Given the description of an element on the screen output the (x, y) to click on. 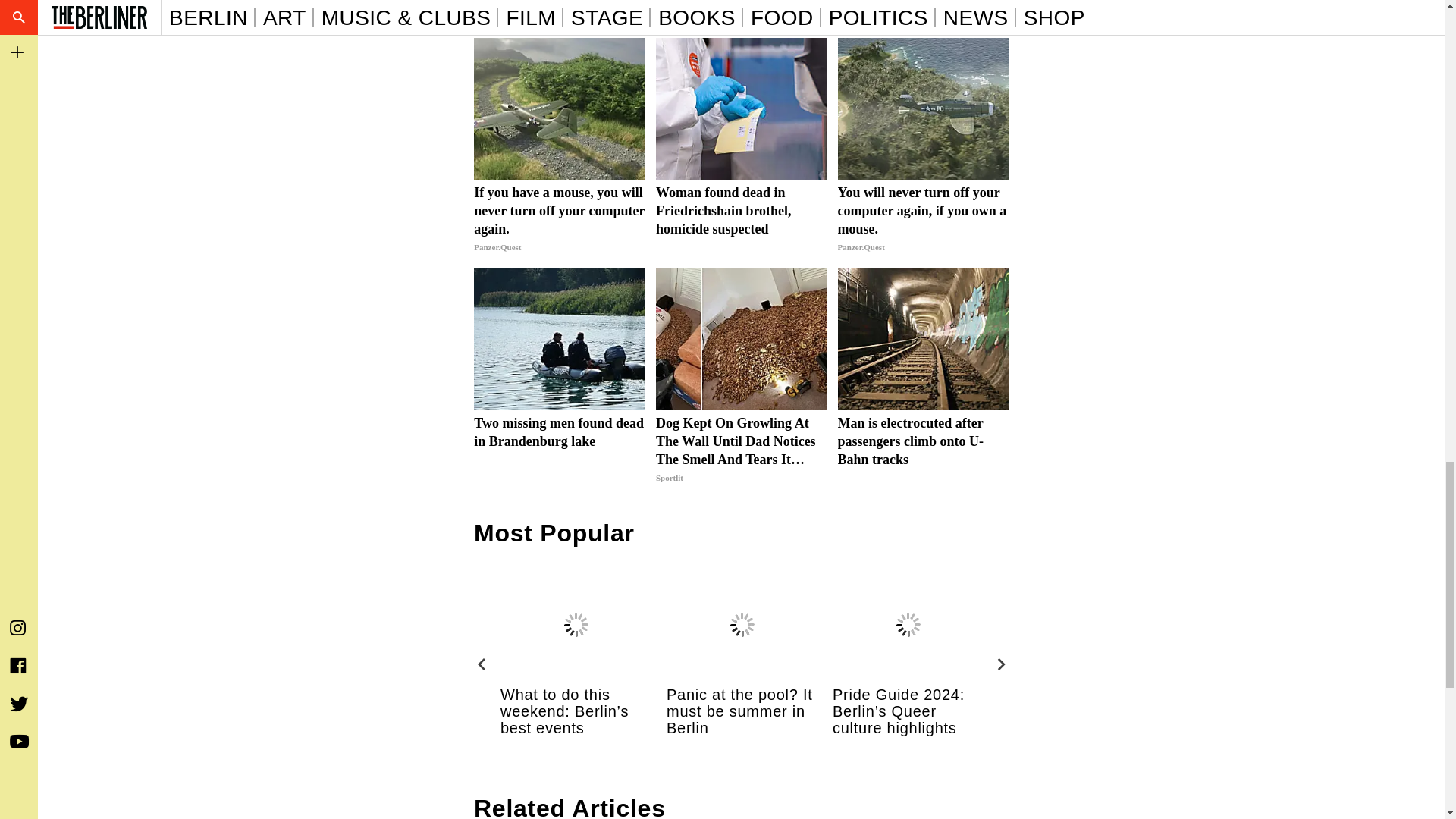
Promoted Links (936, 23)
by Taboola (987, 23)
